Given the description of an element on the screen output the (x, y) to click on. 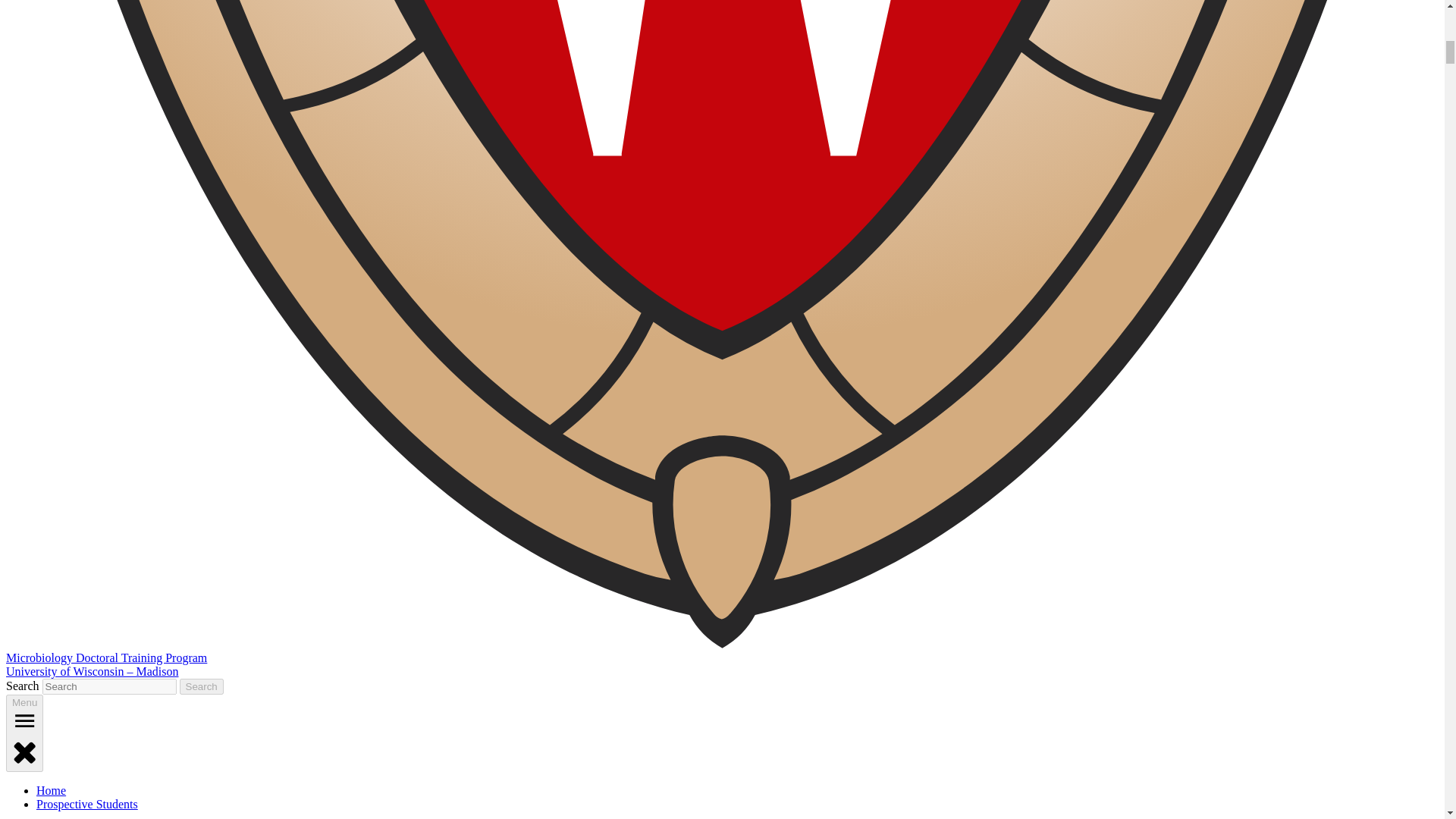
Search (201, 686)
Microbiology Doctoral Training Program (105, 657)
Home (50, 789)
Search (201, 686)
Search (201, 686)
open menu (24, 720)
